Given the description of an element on the screen output the (x, y) to click on. 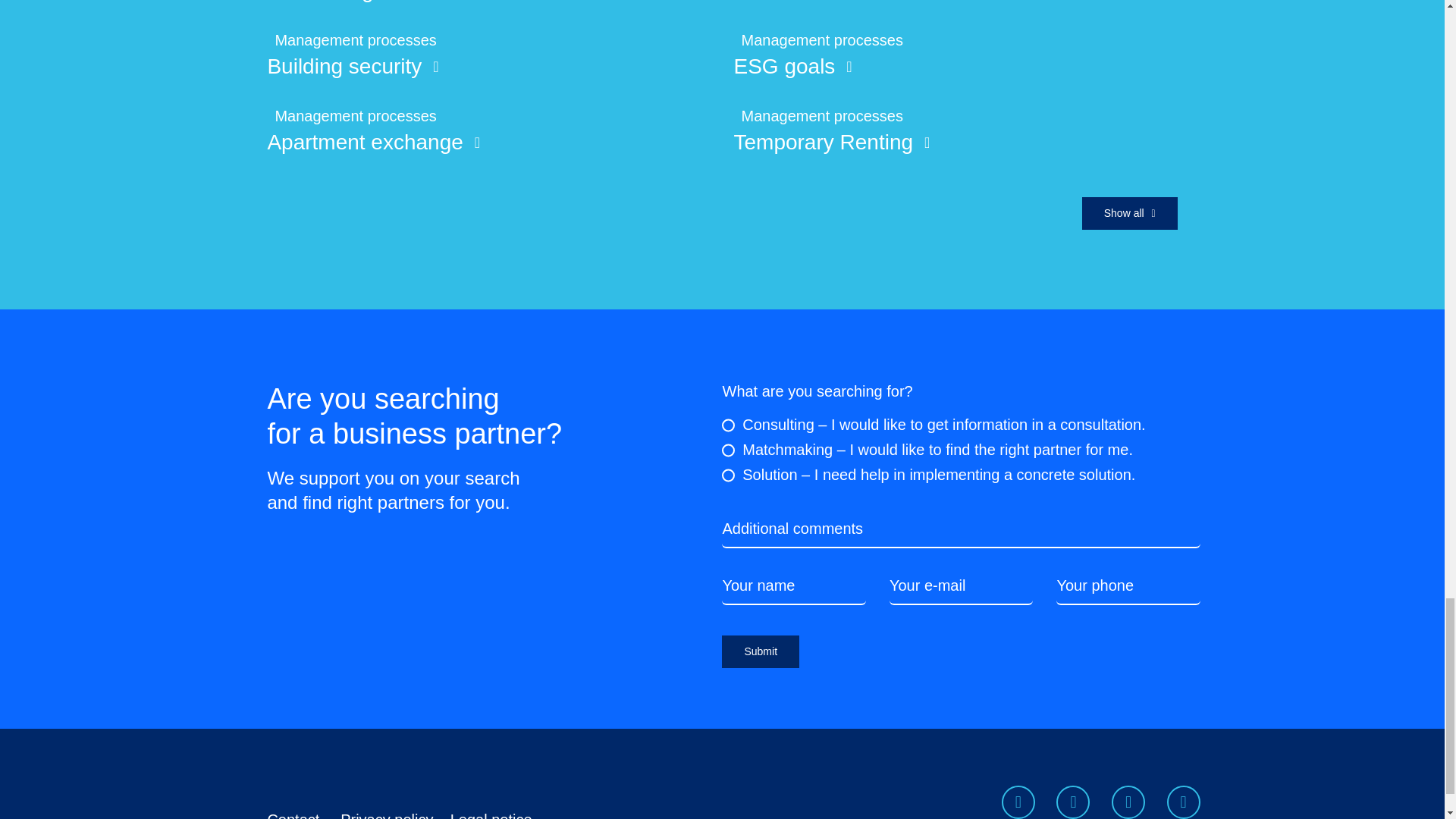
Submit (960, 658)
